Given the description of an element on the screen output the (x, y) to click on. 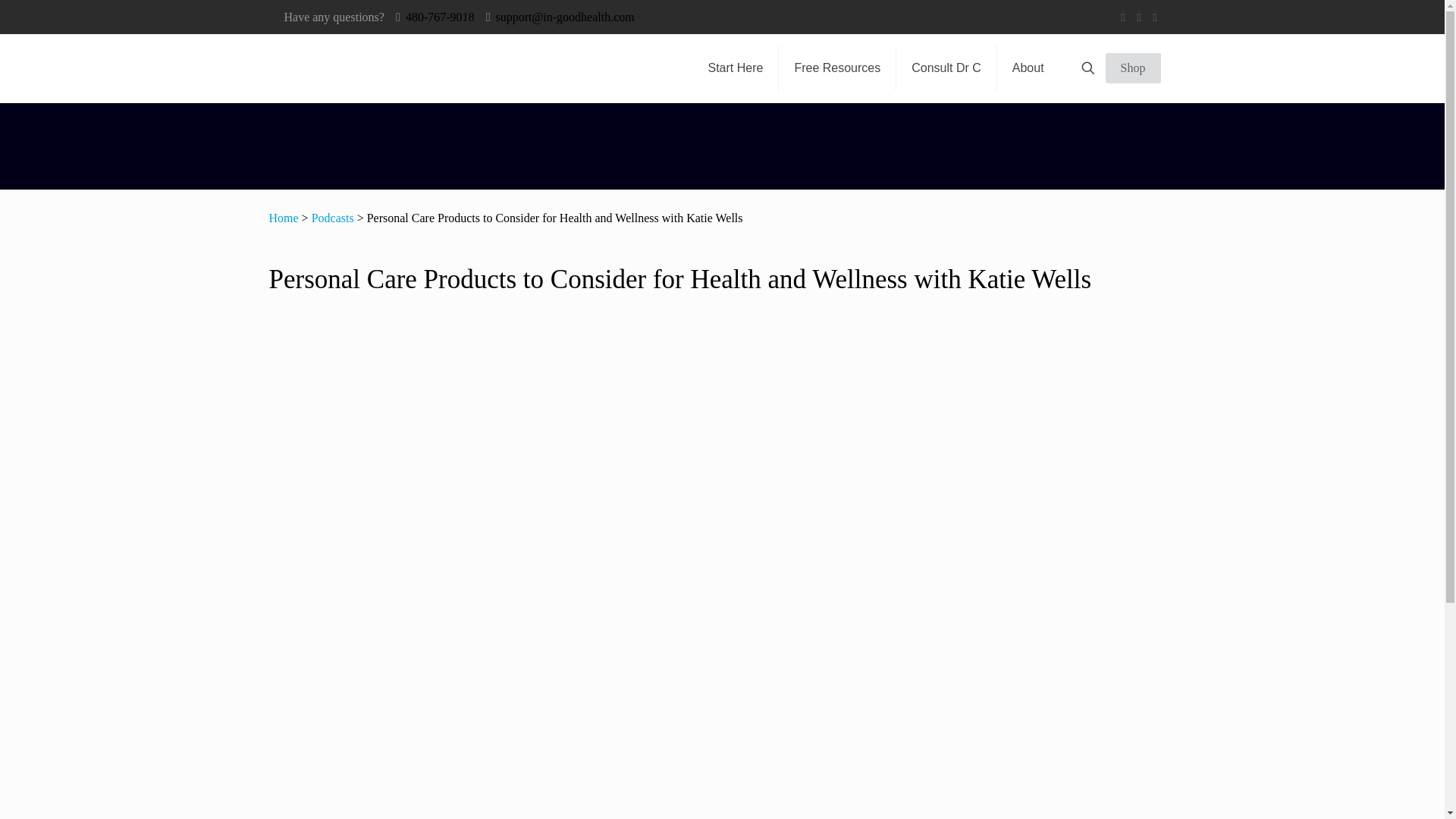
About (1028, 68)
Instagram (1155, 17)
Free Resources (837, 68)
Start Here (735, 68)
Facebook (1123, 17)
Home (282, 217)
Shop (1132, 67)
Consult Dr C (946, 68)
Podcasts (332, 217)
YouTube (1138, 17)
